Given the description of an element on the screen output the (x, y) to click on. 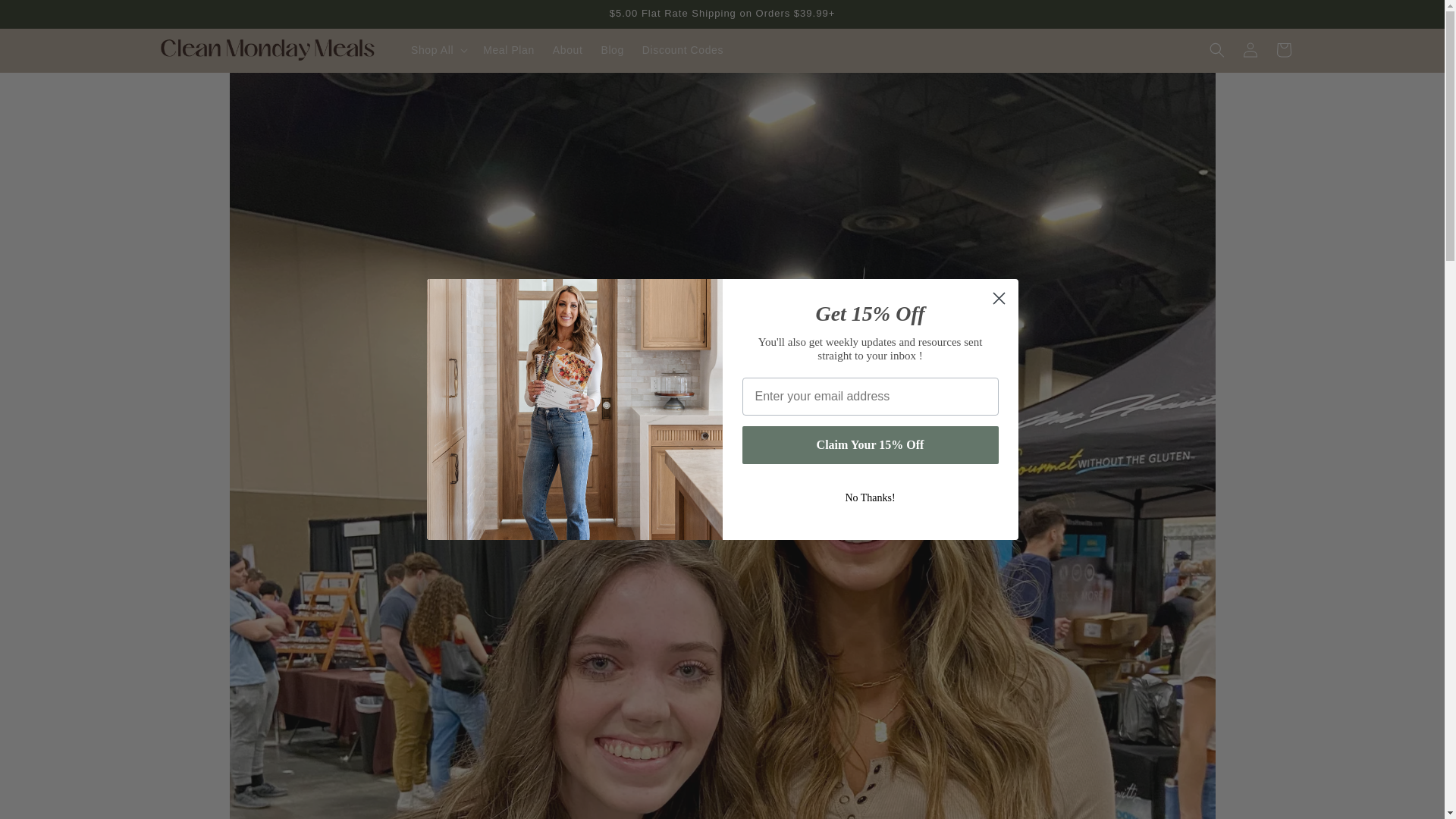
Cart (1283, 49)
Meal Plan (508, 50)
Skip to content (45, 17)
Blog (611, 50)
Close dialog 1 (998, 298)
Log in (1249, 49)
Discount Codes (682, 50)
About (567, 50)
